Given the description of an element on the screen output the (x, y) to click on. 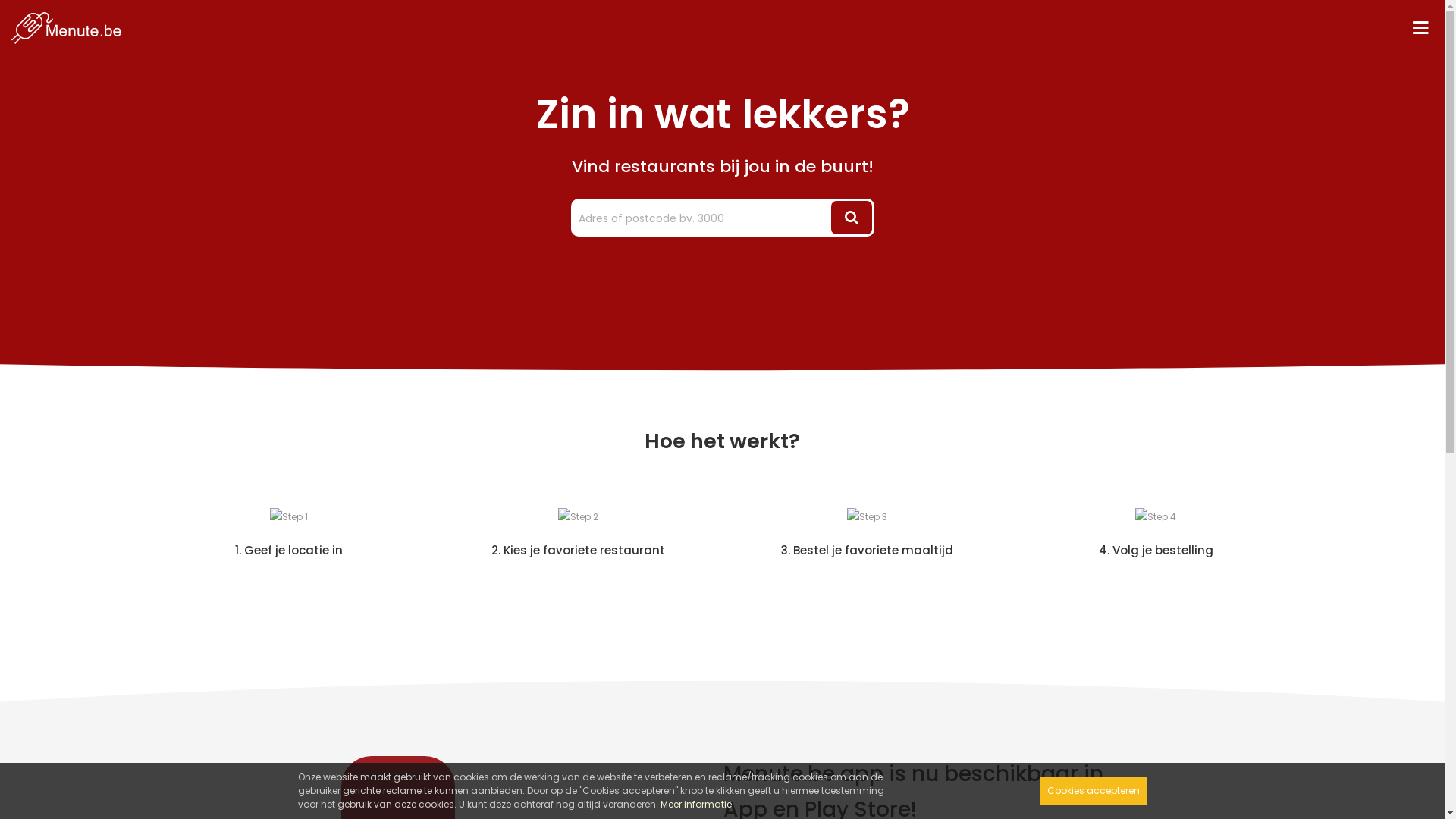
Step 2 Element type: hover (578, 517)
Meer informatie. Element type: text (696, 803)
Step 1 Element type: hover (288, 517)
Step 3 Element type: hover (866, 517)
Step 4 Element type: hover (1155, 517)
Cookies accepteren Element type: text (1092, 790)
